Given the description of an element on the screen output the (x, y) to click on. 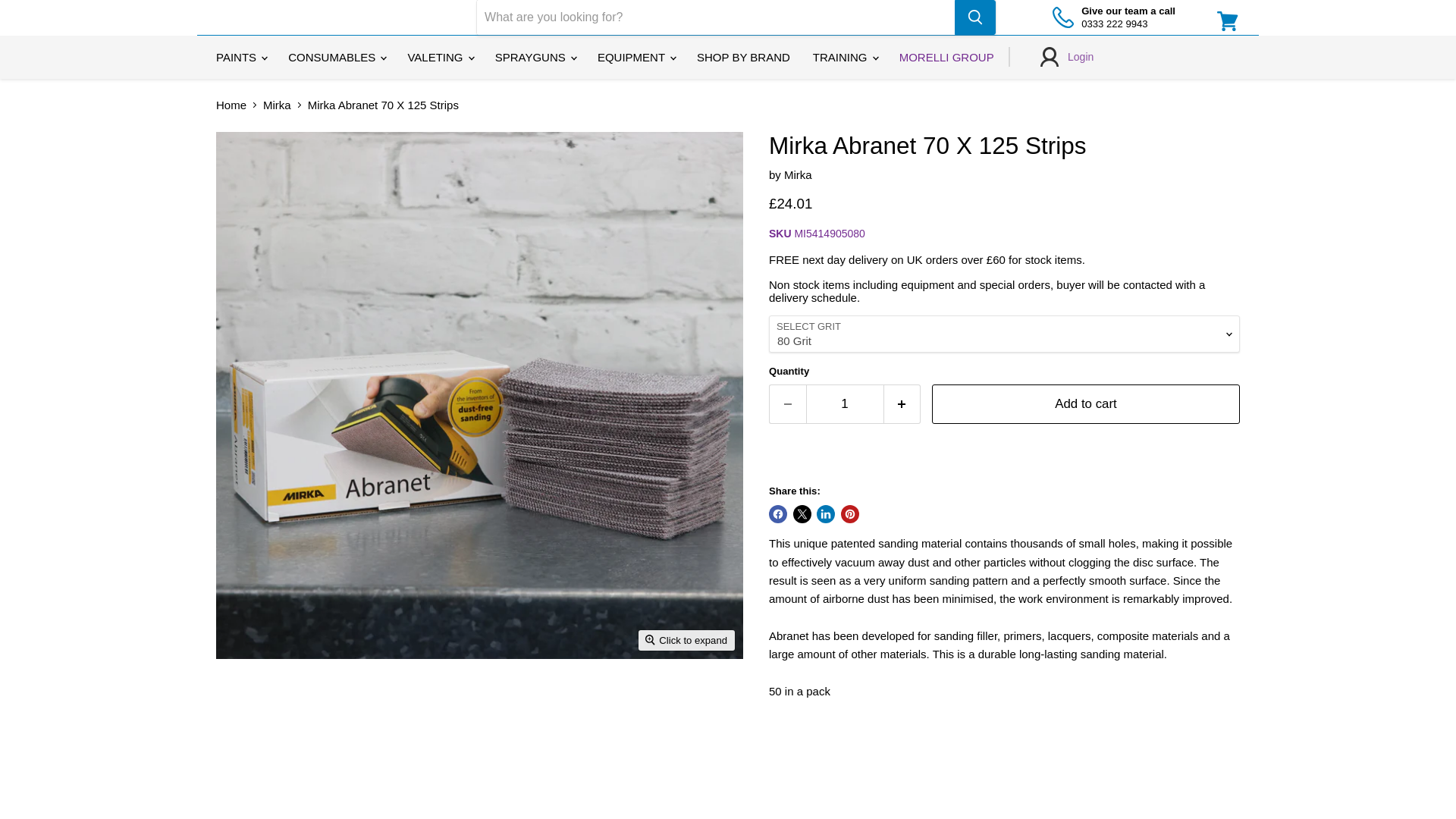
1 (844, 403)
Mirka (798, 174)
View cart (1227, 21)
